Given the description of an element on the screen output the (x, y) to click on. 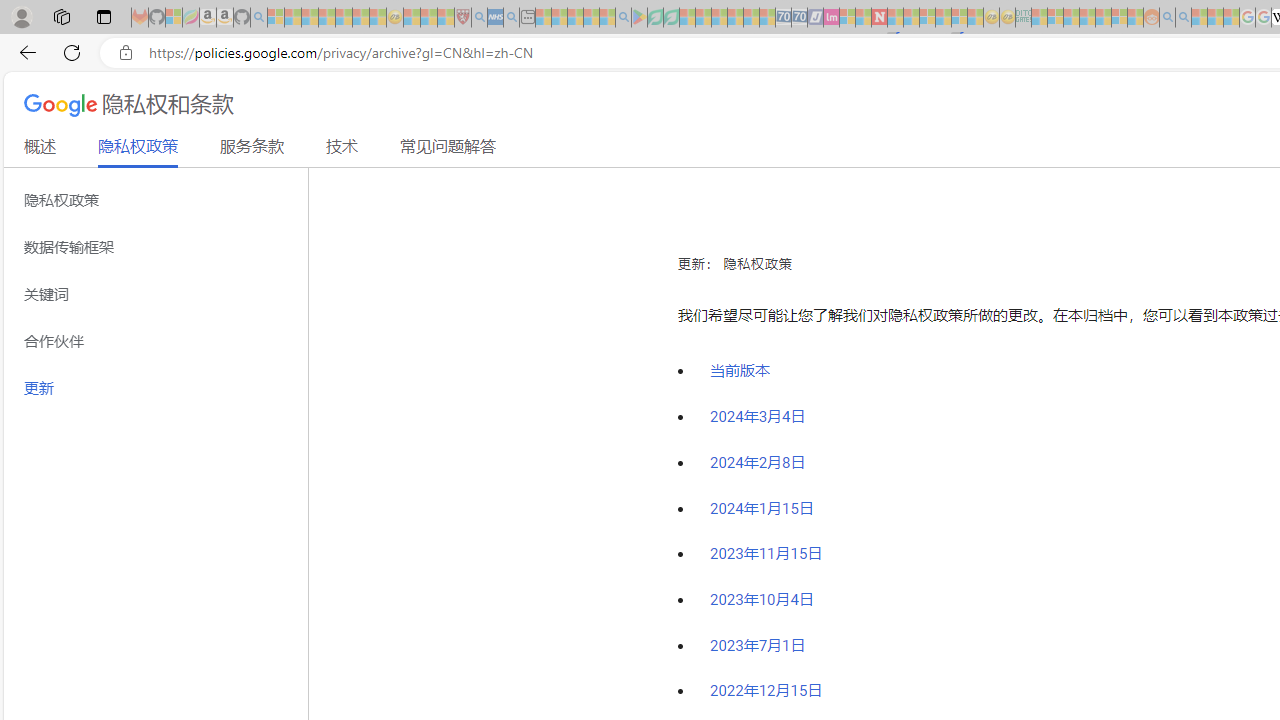
Cheap Car Rentals - Save70.com - Sleeping (783, 17)
Microsoft Start - Sleeping (1199, 17)
Jobs - lastminute.com Investor Portal - Sleeping (831, 17)
DITOGAMES AG Imprint - Sleeping (1023, 17)
